Given the description of an element on the screen output the (x, y) to click on. 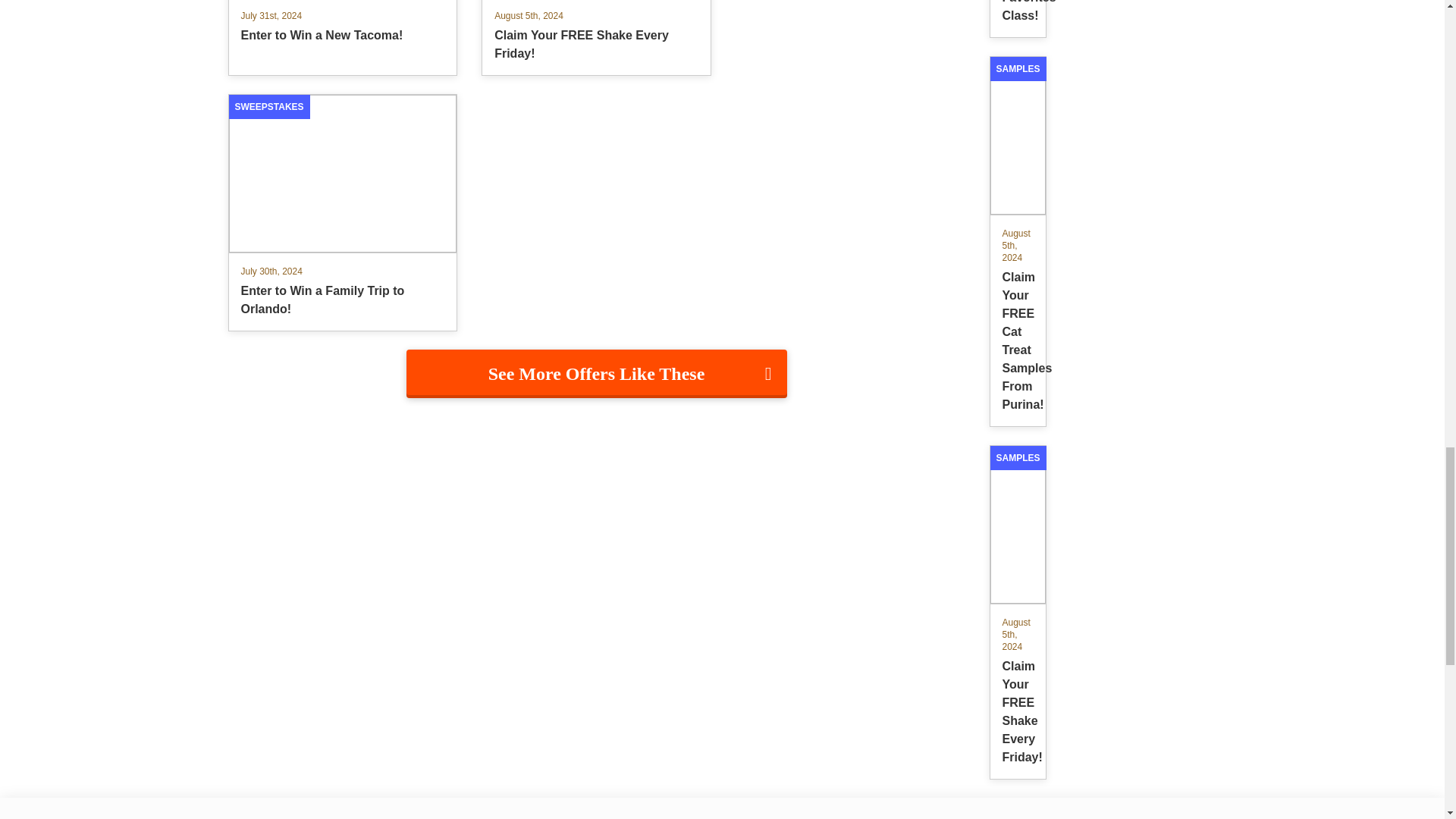
See More Offers Like These (596, 373)
